Given the description of an element on the screen output the (x, y) to click on. 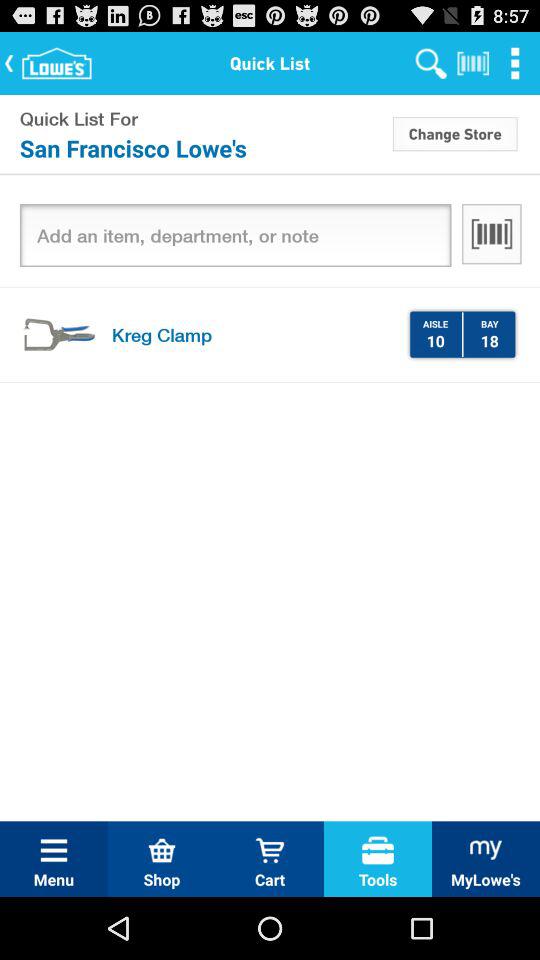
click kreg clamp icon (251, 334)
